Given the description of an element on the screen output the (x, y) to click on. 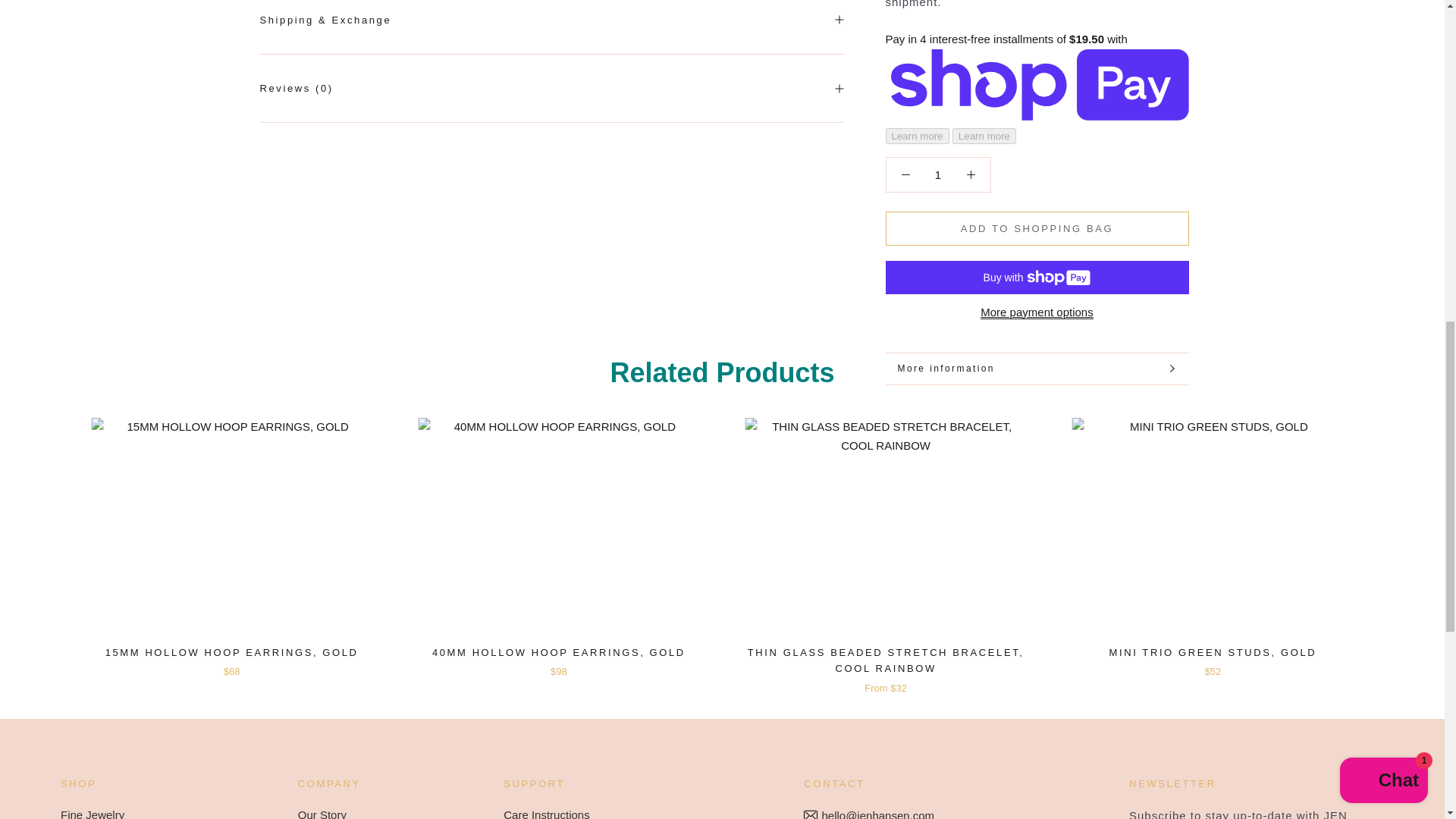
1 (938, 174)
